Given the description of an element on the screen output the (x, y) to click on. 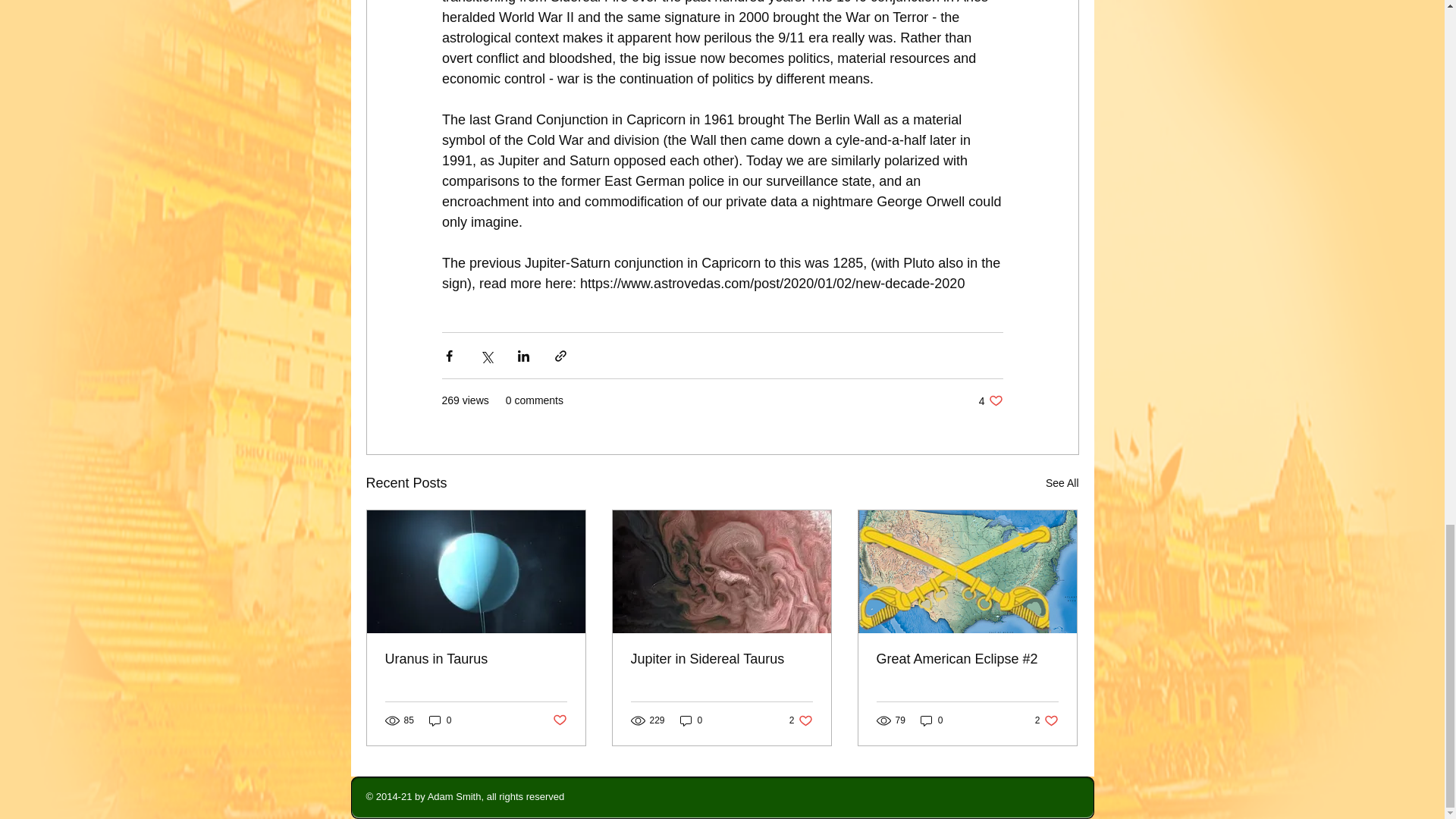
Post not marked as liked (558, 720)
Jupiter in Sidereal Taurus (721, 659)
See All (1061, 483)
0 (800, 720)
0 (440, 720)
Uranus in Taurus (691, 720)
0 (1046, 720)
